Given the description of an element on the screen output the (x, y) to click on. 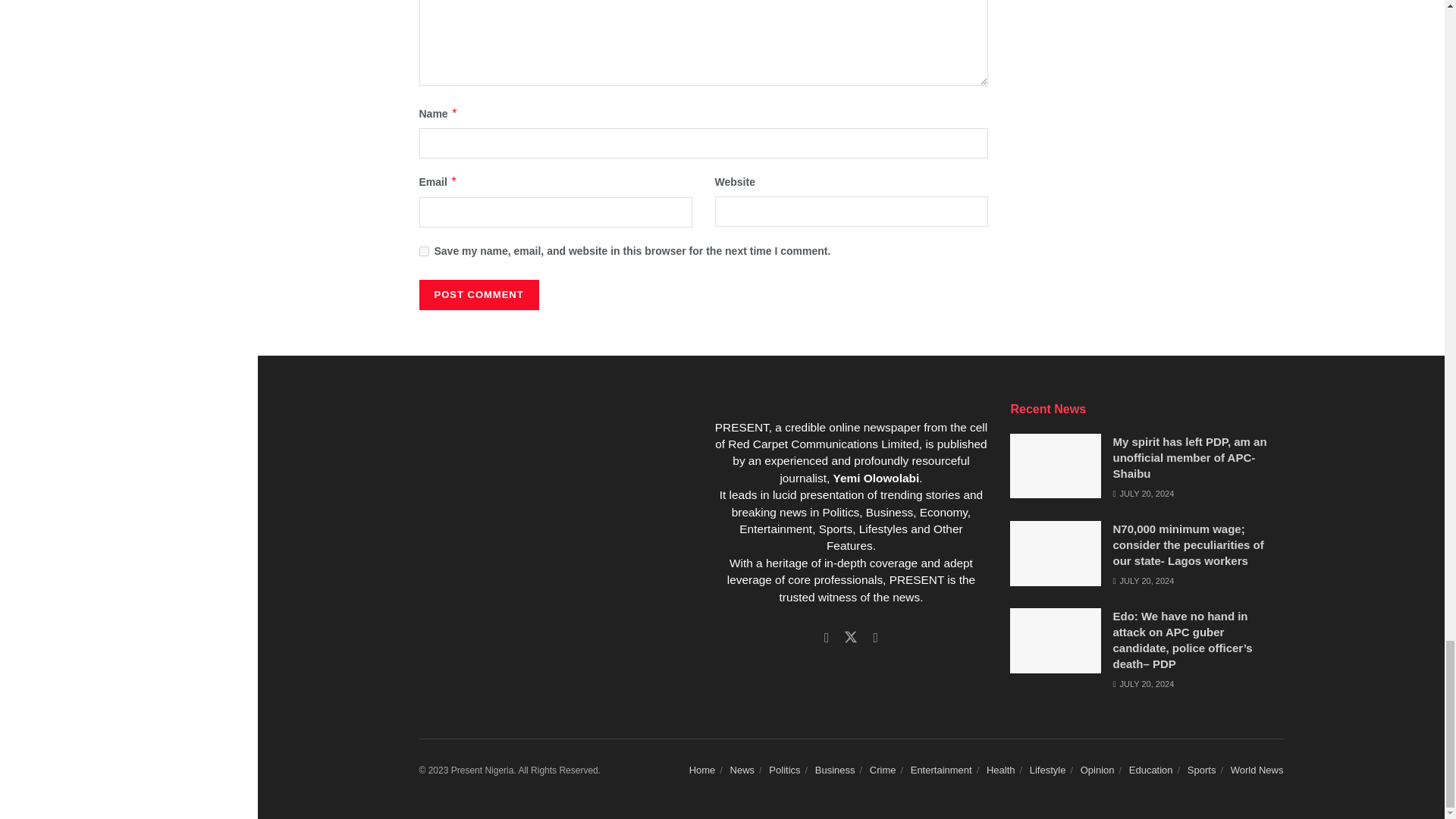
Post Comment (478, 295)
yes (423, 251)
